Given the description of an element on the screen output the (x, y) to click on. 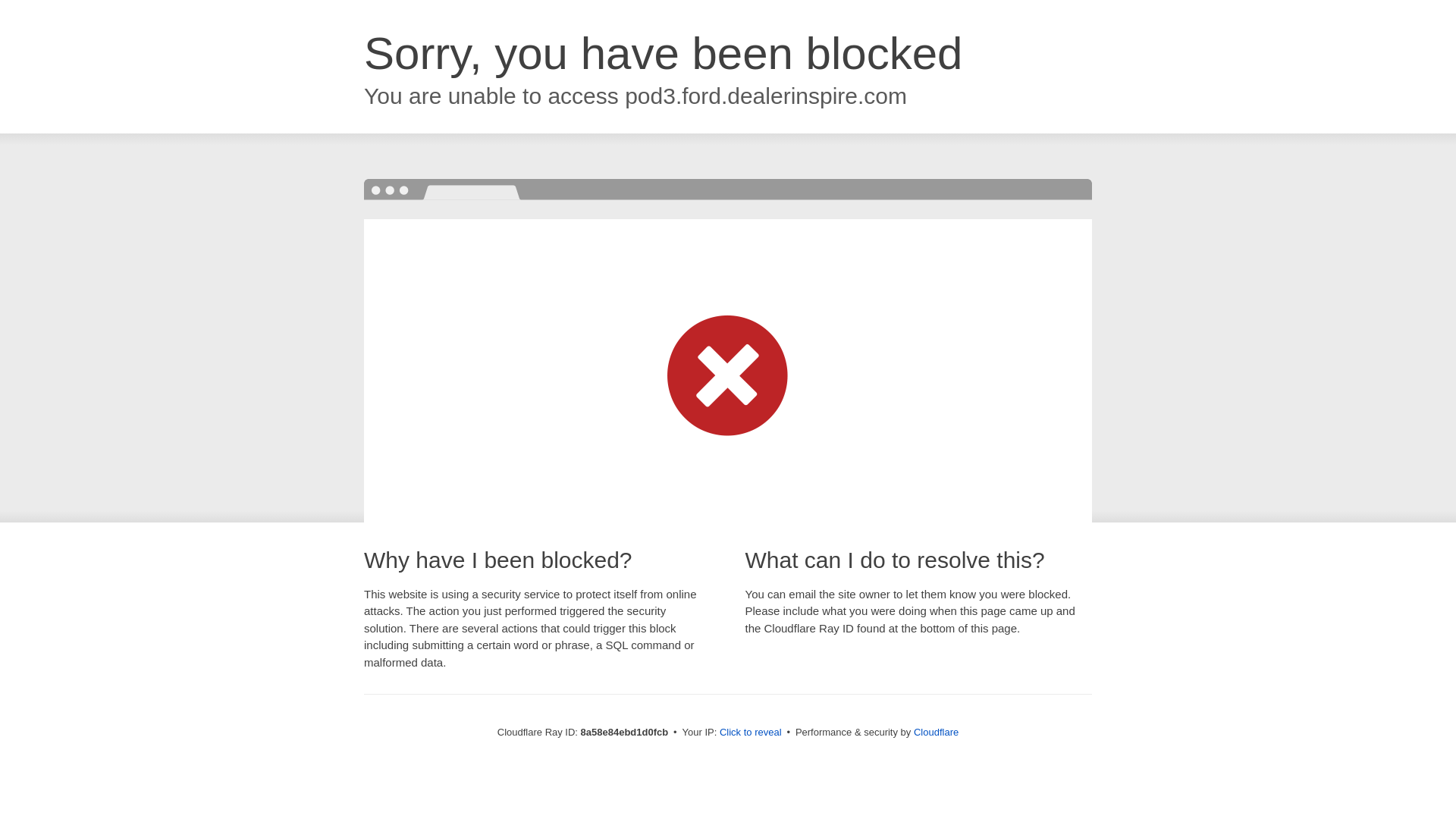
Click to reveal (750, 732)
Cloudflare (936, 731)
